Given the description of an element on the screen output the (x, y) to click on. 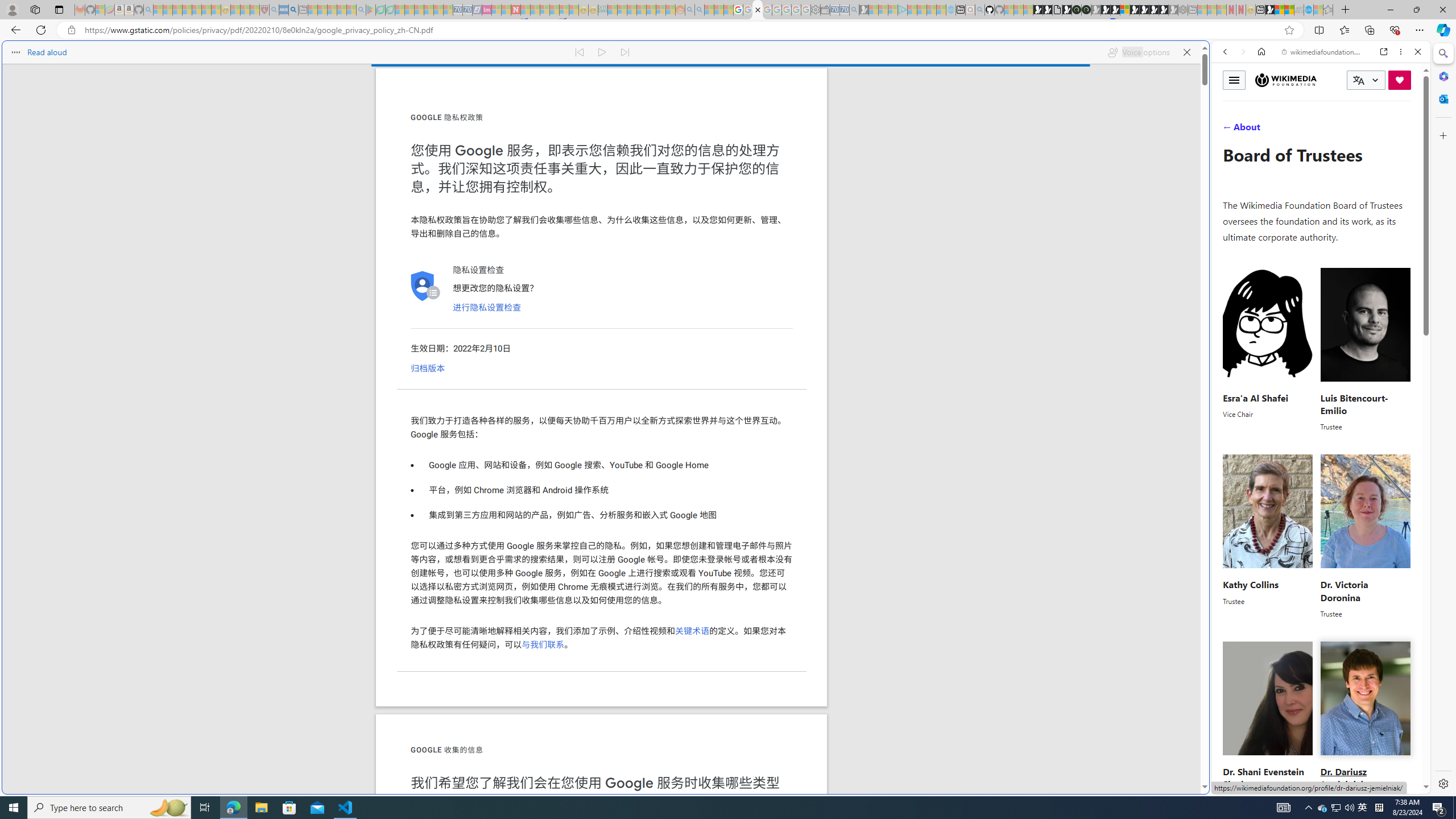
Wikimedia Foundation (1285, 79)
Voice options (1138, 52)
